Given the description of an element on the screen output the (x, y) to click on. 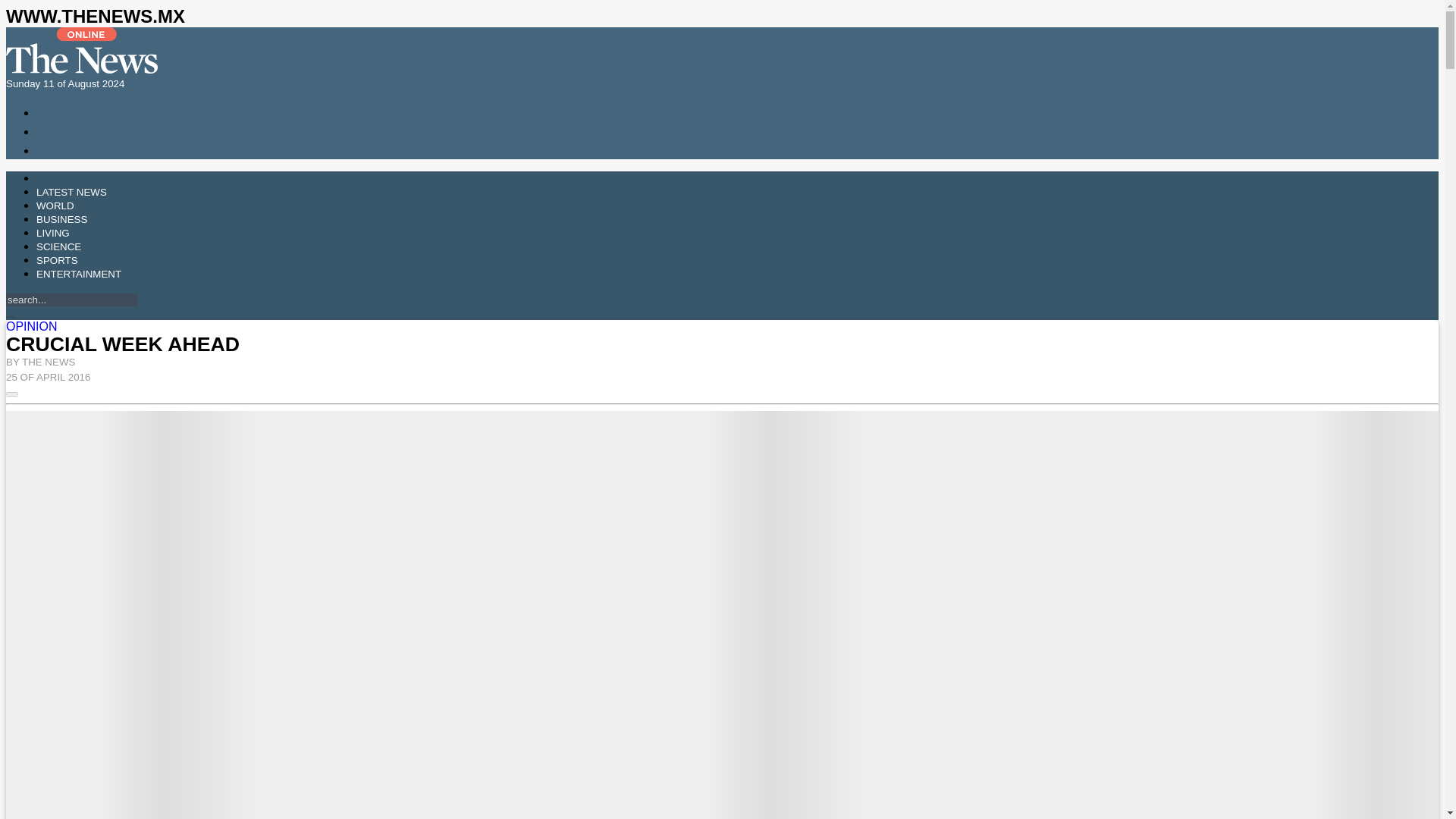
Living (52, 233)
THE NEWS (48, 361)
SCIENCE (58, 246)
Business (61, 219)
Latest News (71, 192)
LATEST NEWS (71, 192)
BUSINESS (61, 219)
Entertainment (78, 274)
WORLD (55, 205)
ENTERTAINMENT (78, 274)
